Given the description of an element on the screen output the (x, y) to click on. 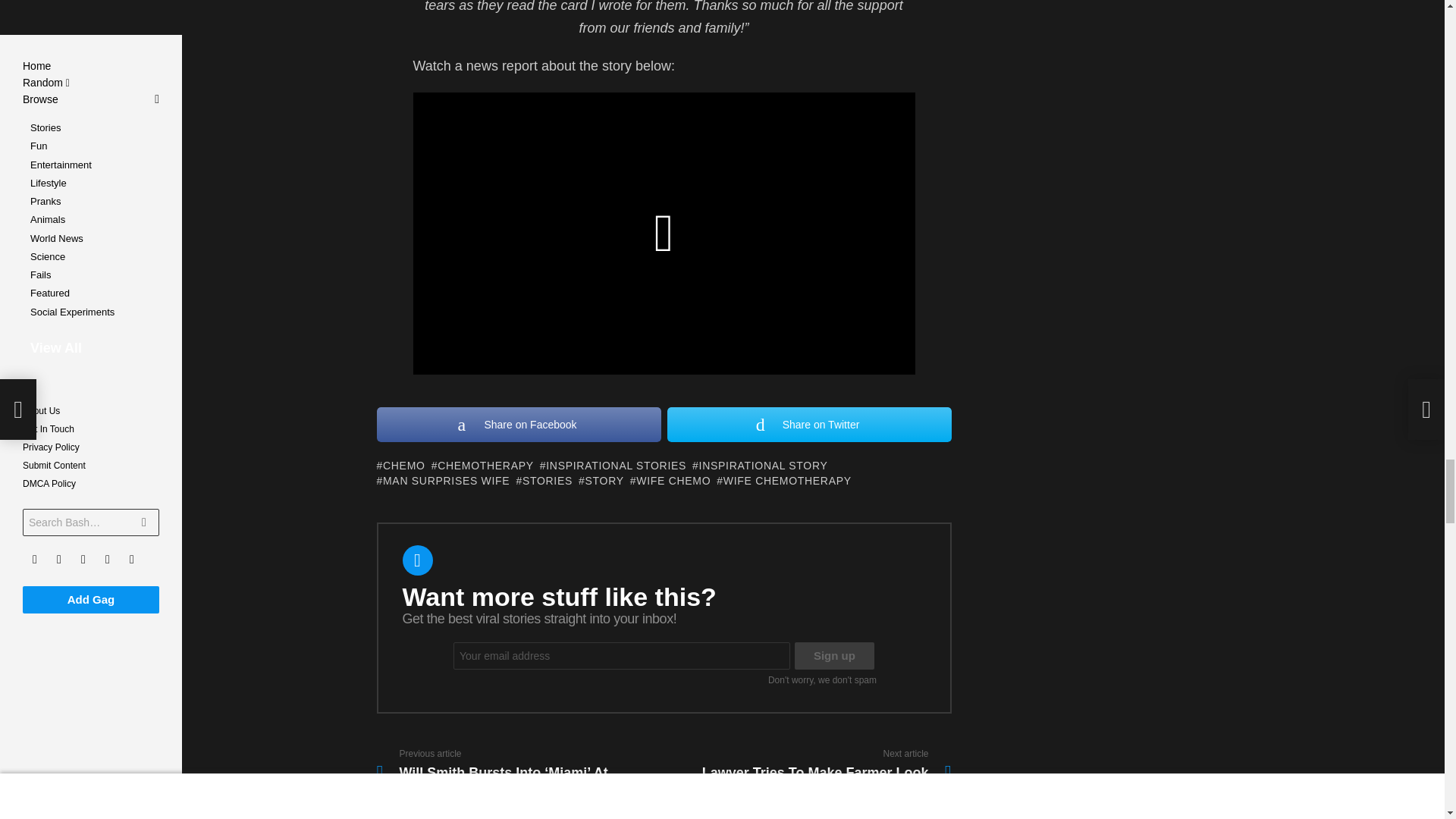
Share on Share on Facebook (518, 424)
Sign up (834, 655)
Share on Share on Twitter (809, 424)
